Given the description of an element on the screen output the (x, y) to click on. 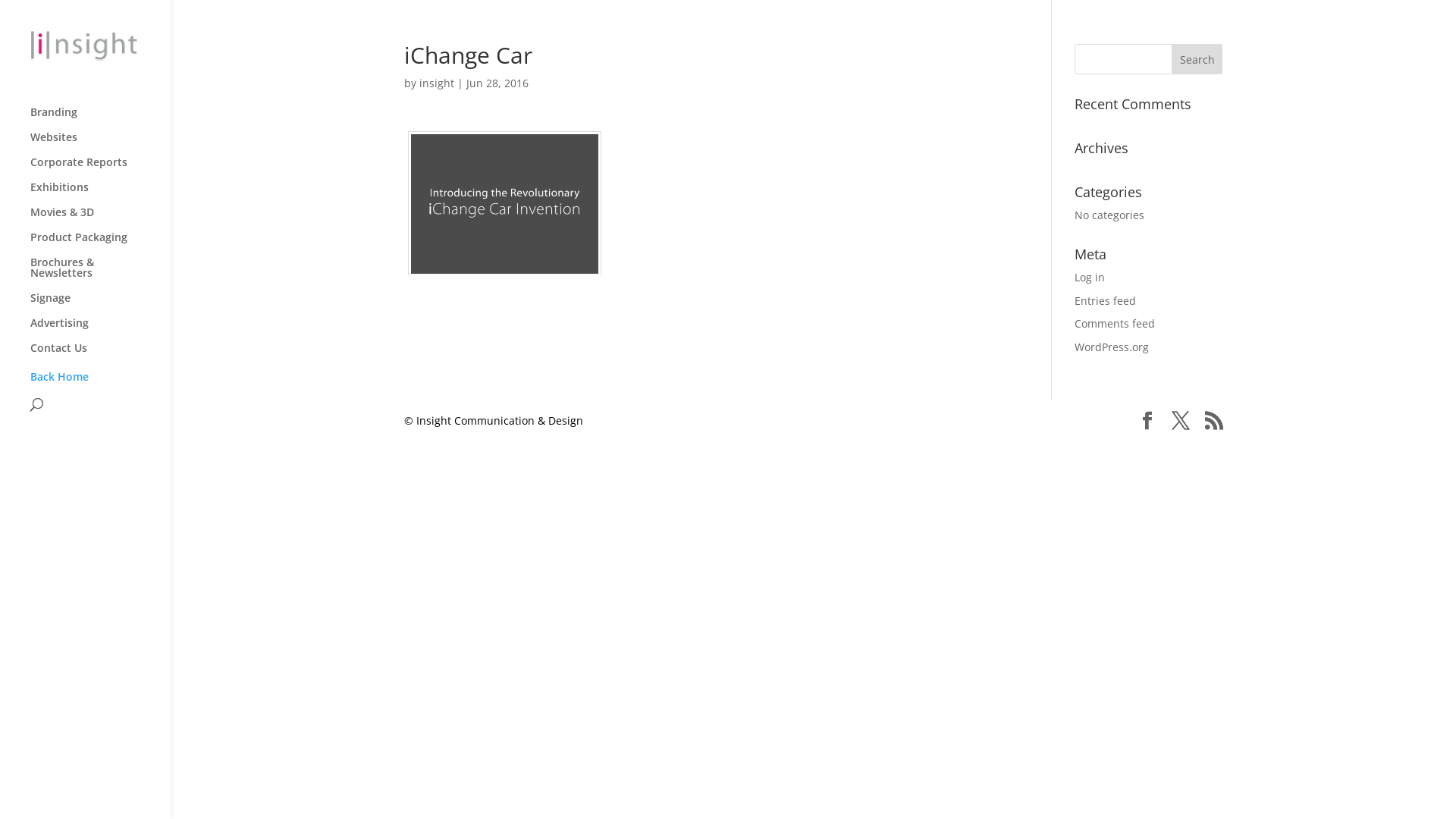
Corporate Reports Element type: text (100, 169)
Comments feed Element type: text (1114, 323)
Entries feed Element type: text (1104, 300)
Log in Element type: text (1089, 276)
Back Home Element type: text (59, 376)
Branding Element type: text (100, 118)
WordPress.org Element type: text (1111, 346)
Movies & 3D Element type: text (100, 219)
Exhibitions Element type: text (100, 194)
iChange Car Movie Production Element type: hover (504, 203)
Search Element type: text (1197, 58)
iChange Car Movie Production Element type: hover (504, 203)
Signage Element type: text (100, 304)
Product Packaging Element type: text (100, 244)
Contact Us Element type: text (100, 354)
insight Element type: text (435, 82)
Websites Element type: text (100, 143)
Brochures & Newsletters Element type: text (100, 274)
Advertising Element type: text (100, 329)
